Given the description of an element on the screen output the (x, y) to click on. 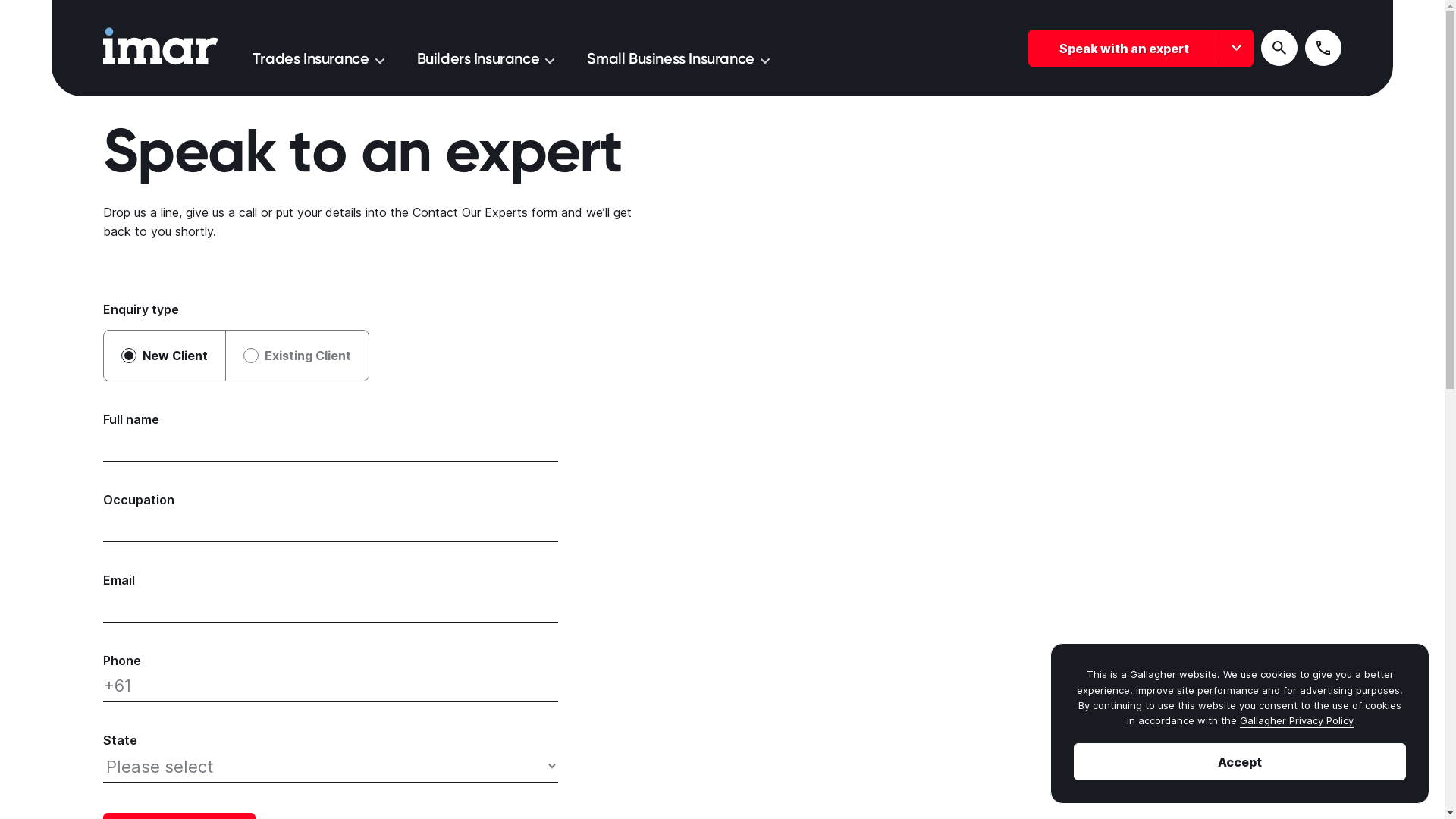
Speak with an expert Element type: text (1140, 47)
Contact Our Experts Element type: text (469, 211)
Trades Insurance Element type: text (318, 57)
Builders Insurance Element type: text (486, 57)
Accept Element type: text (1239, 761)
Small Business Insurance Element type: text (677, 57)
Gallagher Privacy Policy Element type: text (1295, 720)
